Given the description of an element on the screen output the (x, y) to click on. 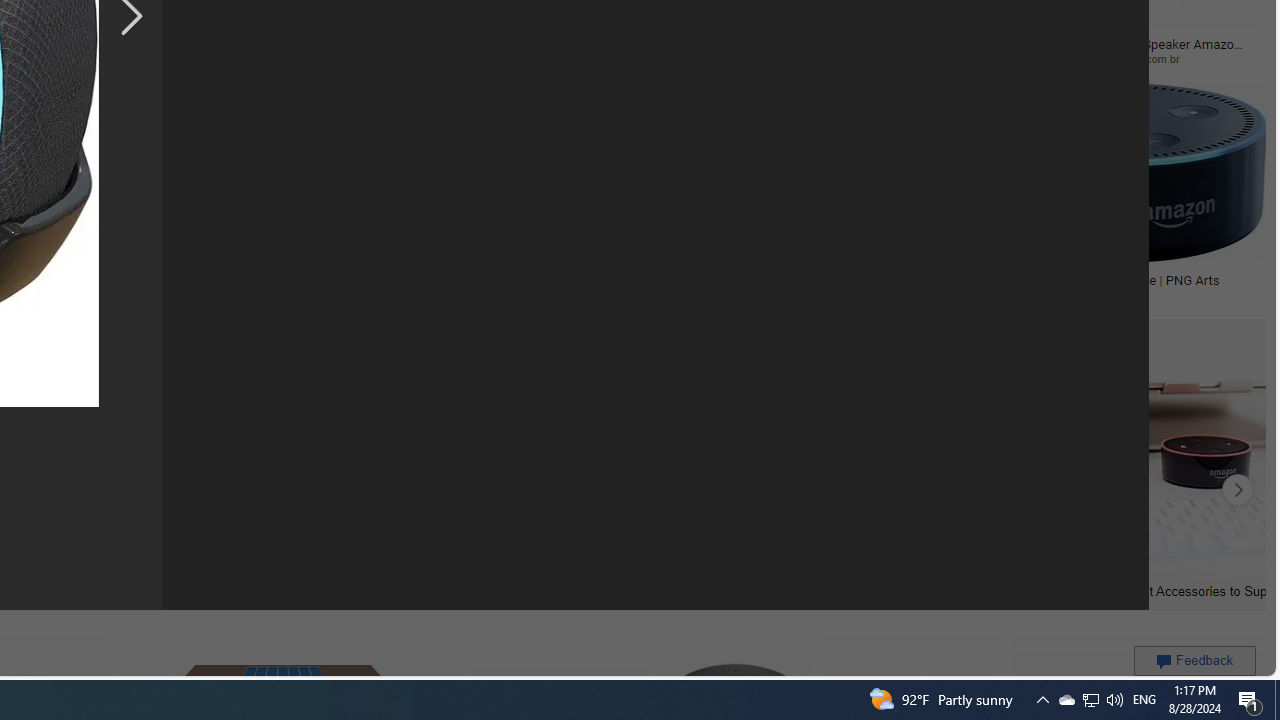
pngarts.com (1123, 295)
amazon.com.mx (484, 57)
avenidatecnologica.com (905, 57)
